Given the description of an element on the screen output the (x, y) to click on. 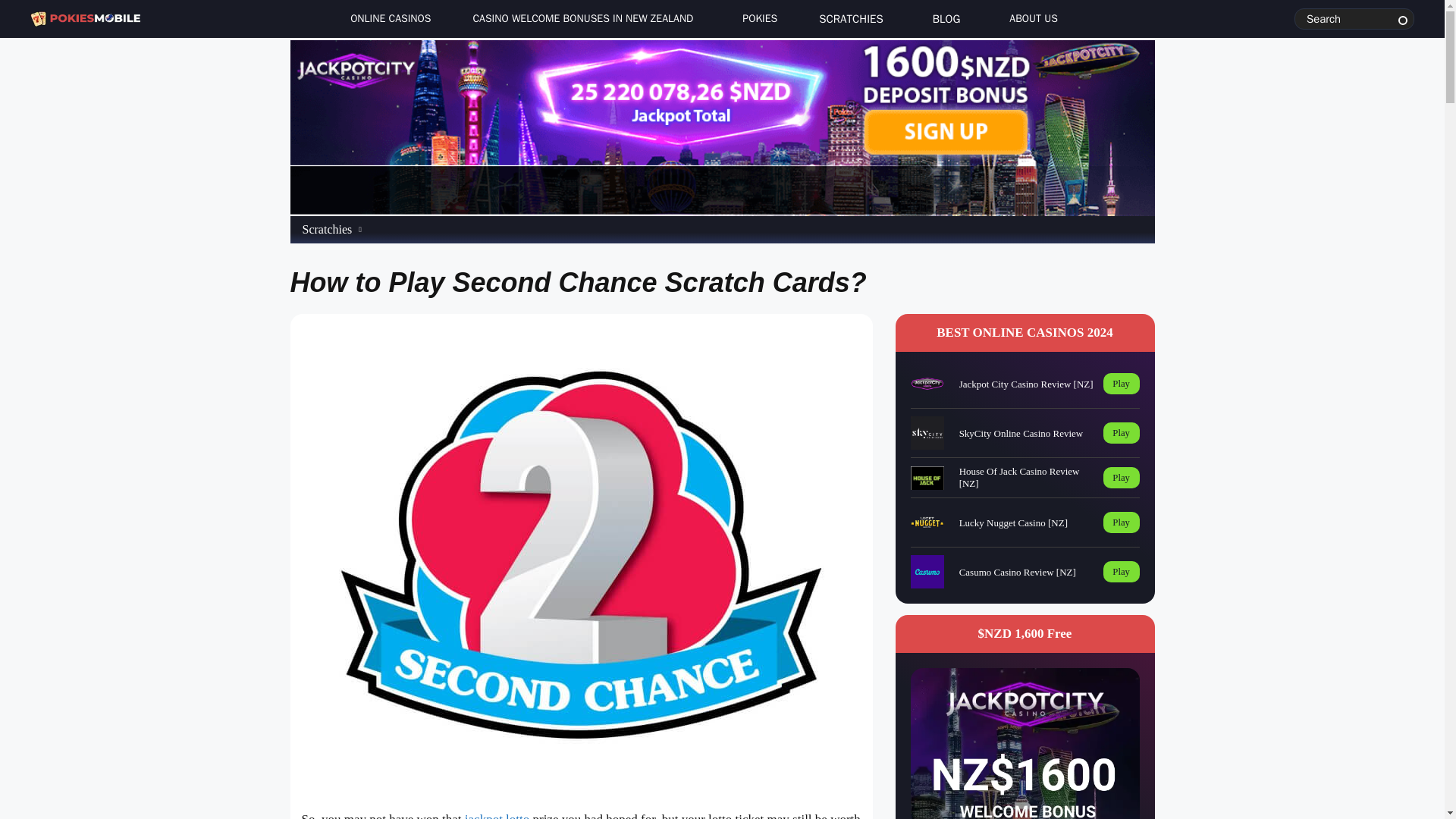
Scratchies (326, 229)
jackpot lotto (496, 815)
ABOUT US (1029, 18)
Go to the Scratchies category archives. (326, 229)
ONLINE CASINOS (386, 18)
SCRATCHIES (850, 20)
POKIES (755, 18)
BLOG (946, 20)
CASINO WELCOME BONUSES IN NEW ZEALAND (582, 20)
